Given the description of an element on the screen output the (x, y) to click on. 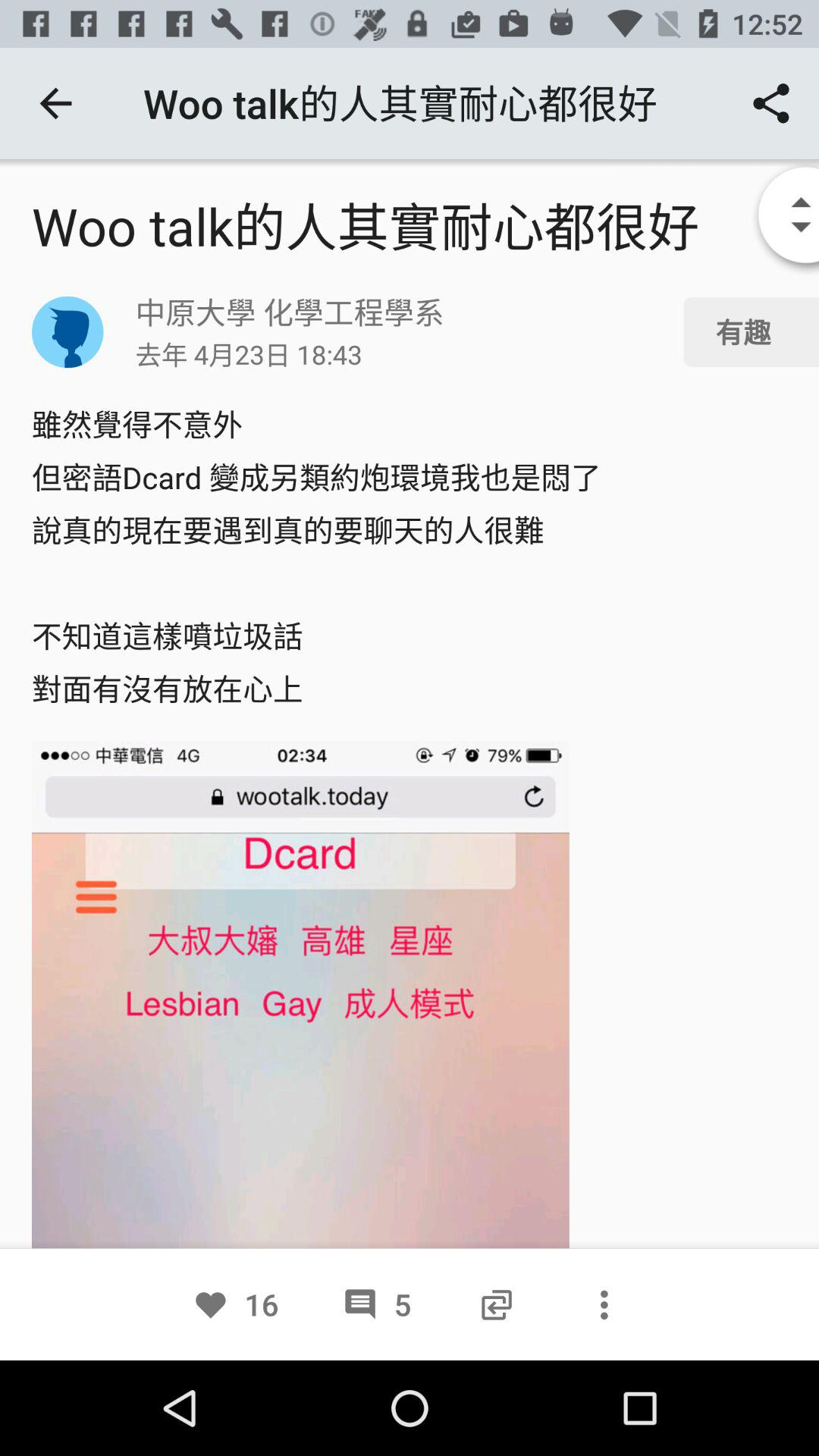
click the option 16 beside 5 (235, 1304)
click up down arrow button (776, 217)
click on the first and second phrase above the screenshot image (409, 556)
mark the three dot icon at the bottom of the page (604, 1304)
